Given the description of an element on the screen output the (x, y) to click on. 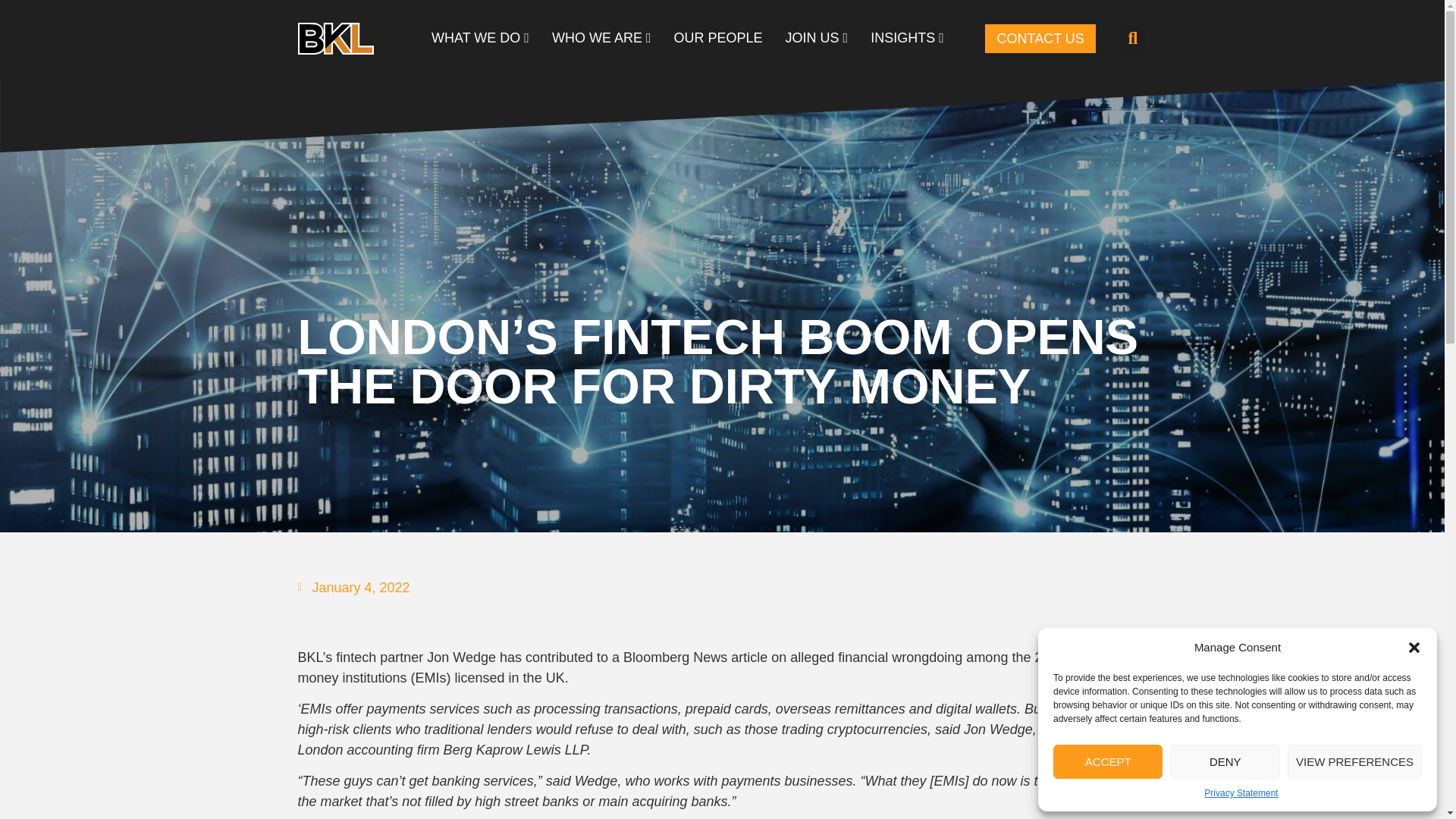
ACCEPT (1106, 761)
WHAT WE DO (480, 38)
Privacy Statement (1241, 793)
DENY (1224, 761)
VIEW PREFERENCES (1354, 761)
